Given the description of an element on the screen output the (x, y) to click on. 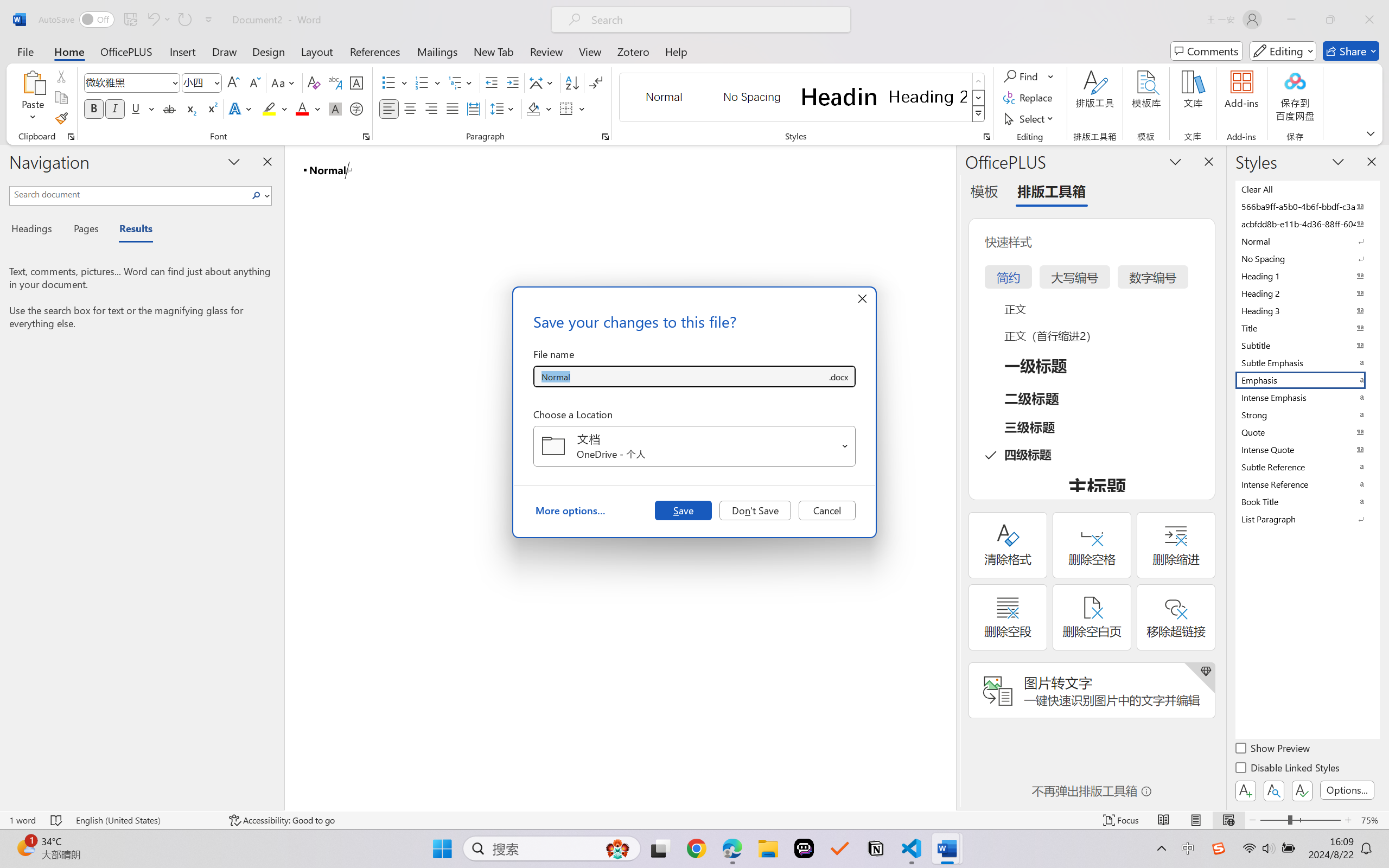
Distributed (473, 108)
Styles (978, 113)
Google Chrome (696, 848)
Underline (135, 108)
Word Count 1 word (21, 819)
Font (126, 82)
Insert (182, 51)
Save as type (837, 376)
Font Color Red (302, 108)
Spelling and Grammar Check No Errors (56, 819)
